Given the description of an element on the screen output the (x, y) to click on. 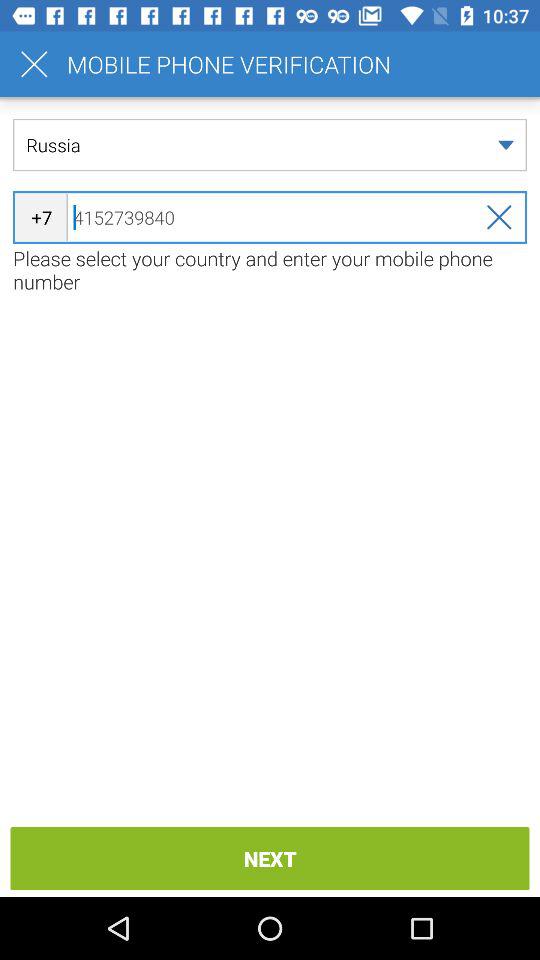
flip until the please select your item (269, 270)
